Given the description of an element on the screen output the (x, y) to click on. 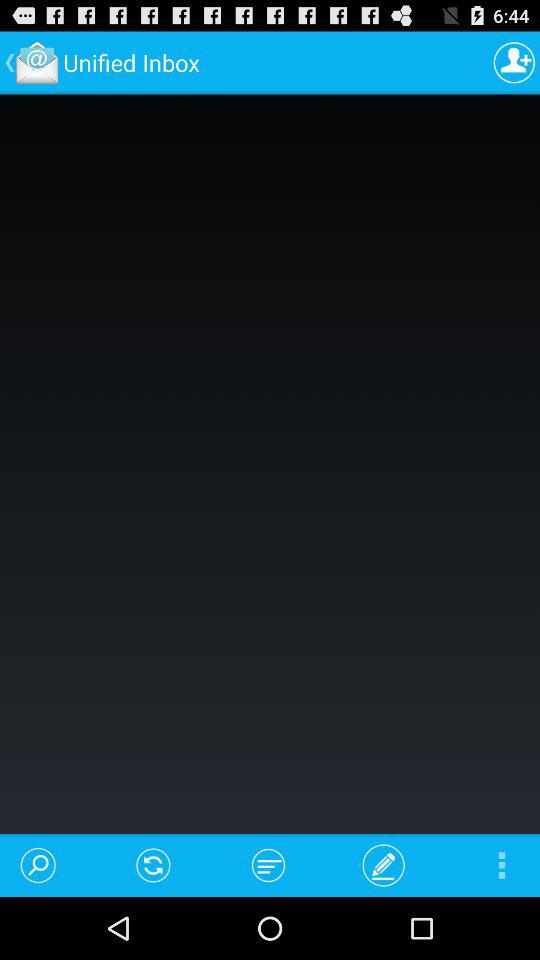
add new contact (514, 62)
